Given the description of an element on the screen output the (x, y) to click on. 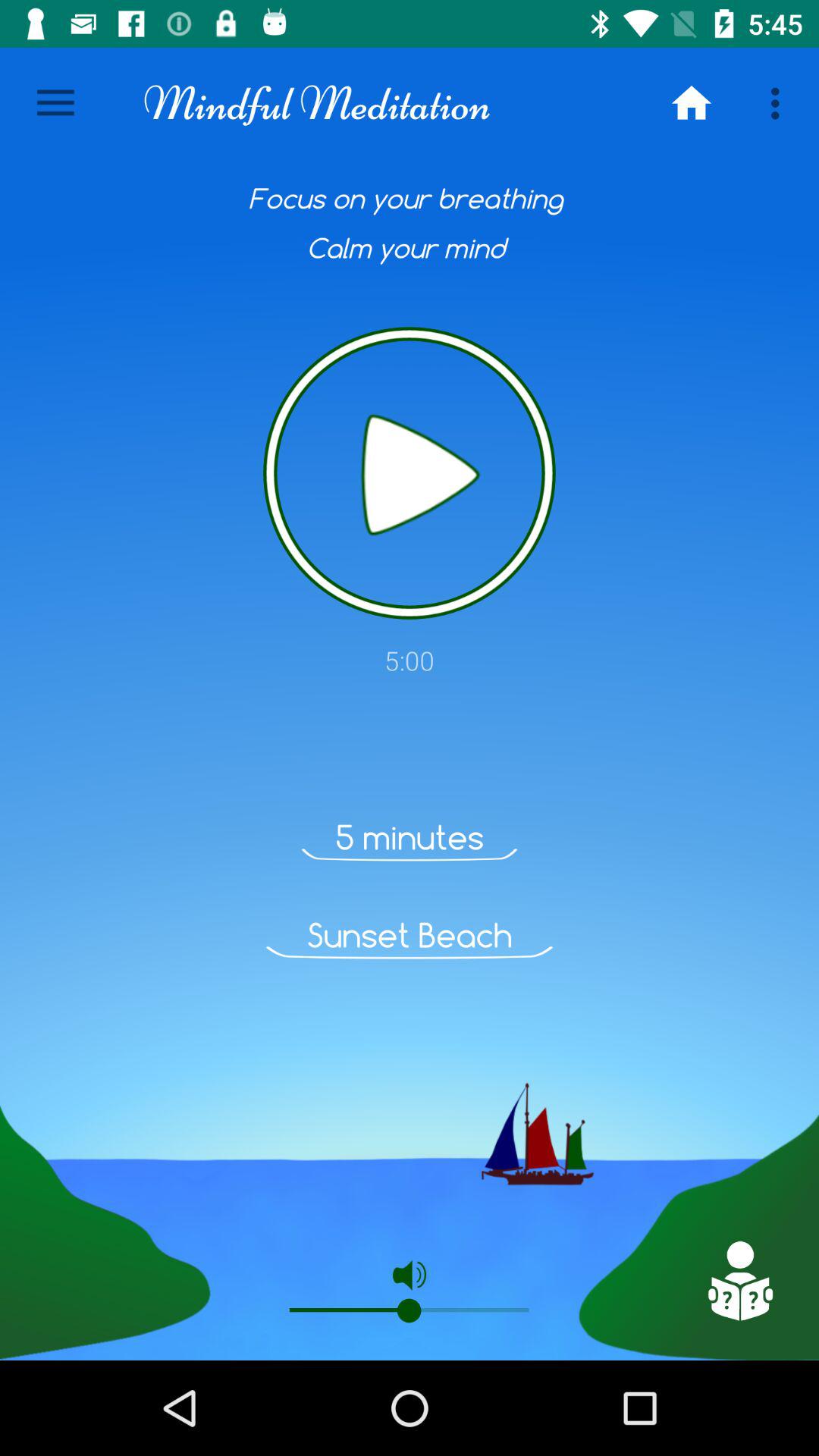
play (409, 472)
